Given the description of an element on the screen output the (x, y) to click on. 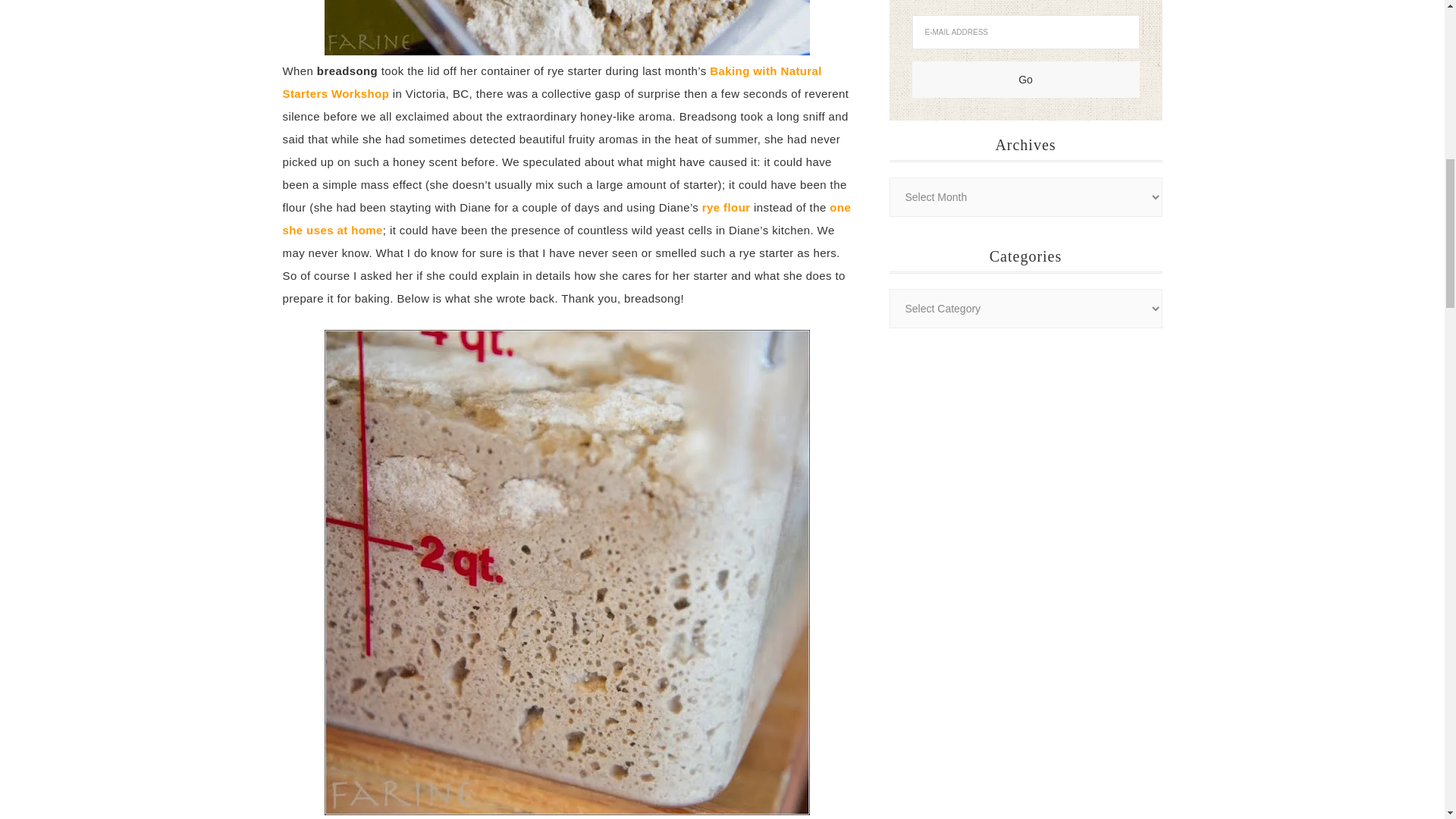
one she uses at home (566, 218)
Baking with Natural Starters Workshop (551, 81)
Go (1024, 79)
rye flour (726, 206)
